Given the description of an element on the screen output the (x, y) to click on. 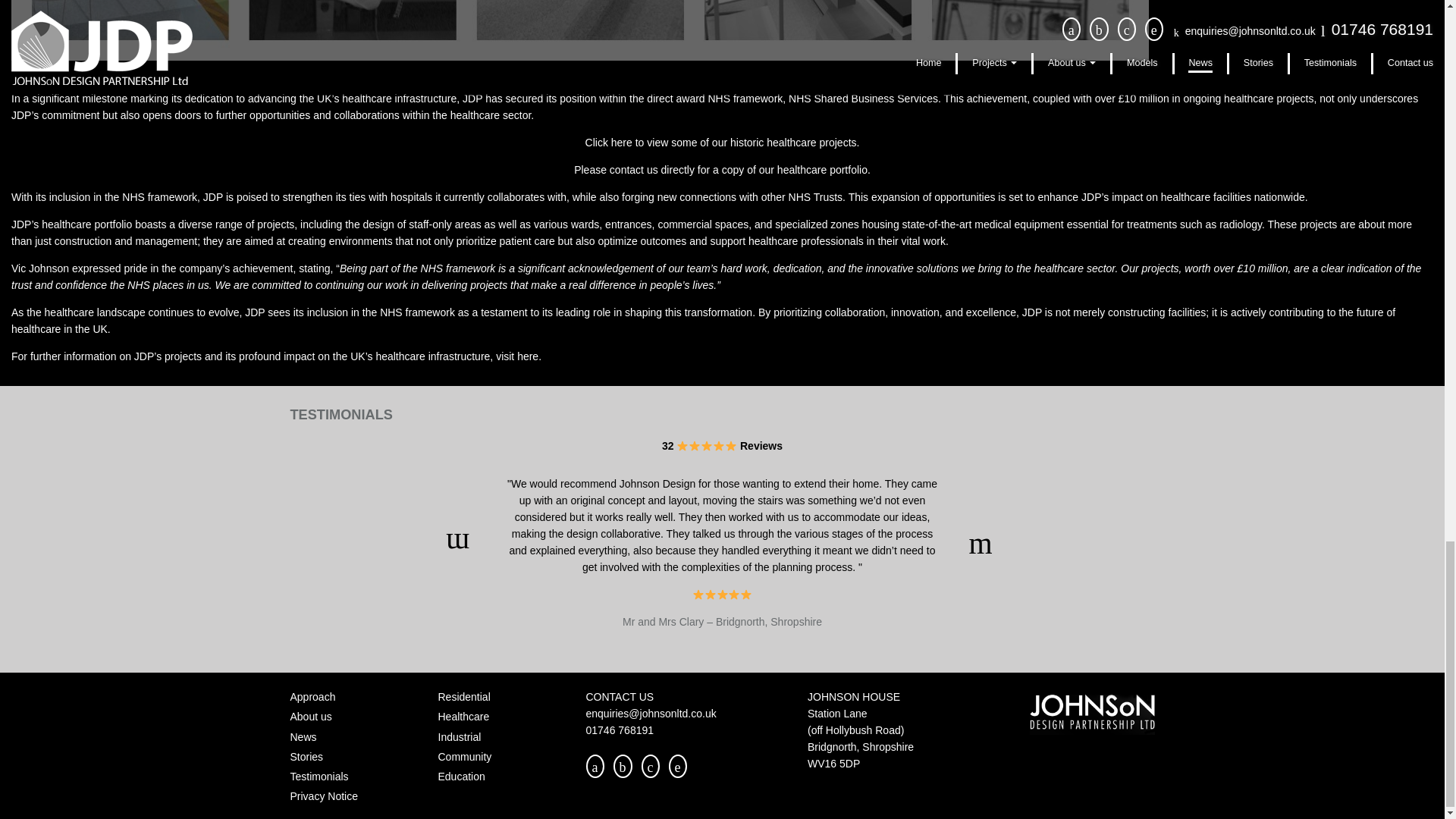
TESTIMONIALS (340, 414)
Click here (608, 142)
About us (310, 716)
Approach (311, 696)
contact us (634, 169)
visit here (515, 356)
Stories (306, 756)
Testimonials (318, 776)
Privacy Notice (322, 796)
News (302, 736)
